Given the description of an element on the screen output the (x, y) to click on. 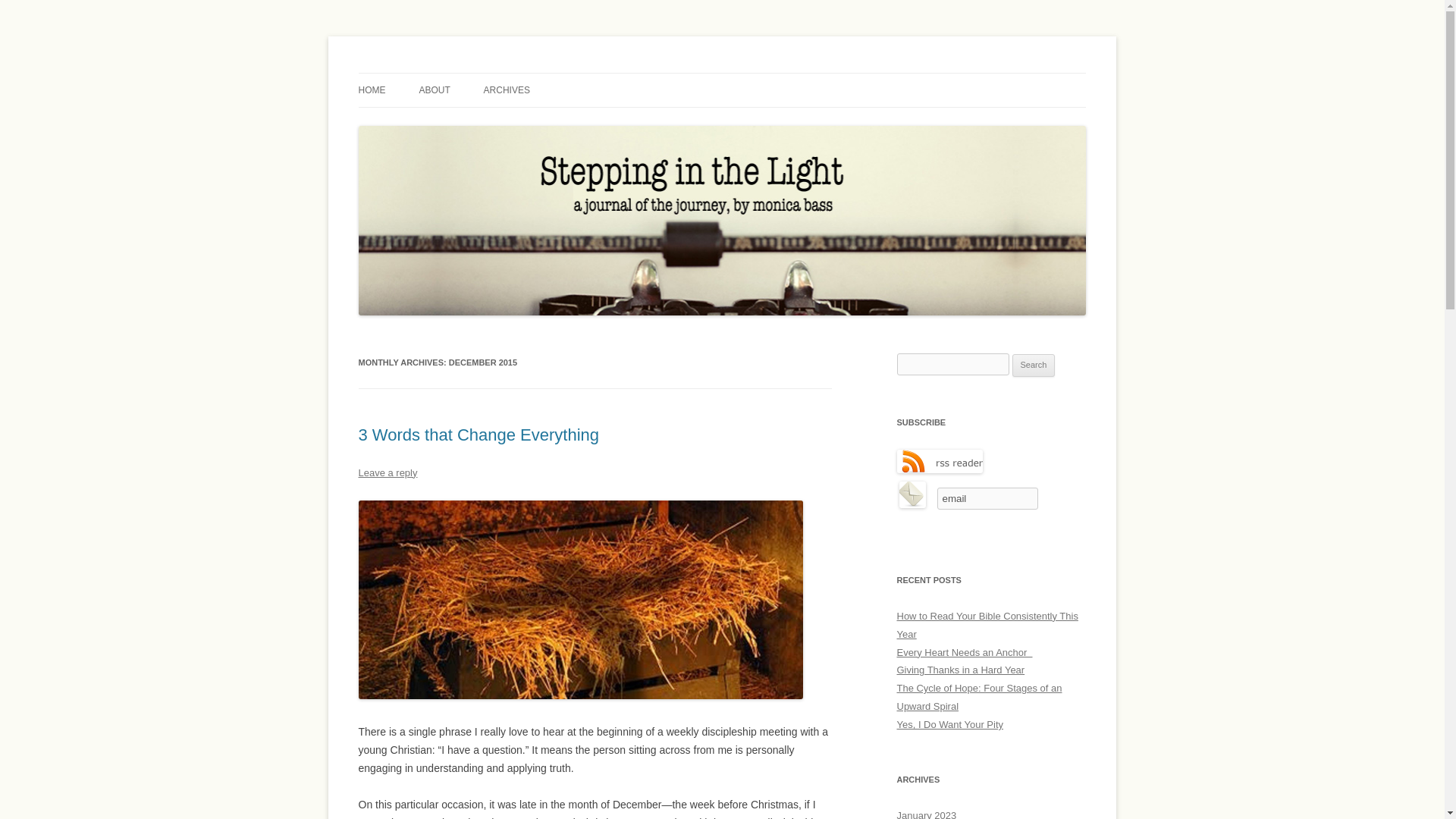
Leave a reply (387, 472)
How to Read Your Bible Consistently This Year (986, 624)
ARCHIVES (506, 90)
Stepping in the Light (455, 72)
Yes, I Do Want Your Pity (949, 724)
Search (1033, 364)
Search (1033, 364)
email (988, 498)
January 2023 (926, 814)
3 Words that Change Everything (478, 434)
Every Heart Needs an Anchor   (964, 651)
ABOUT (434, 90)
Subscribe (990, 520)
The Cycle of Hope: Four Stages of an Upward Spiral (978, 696)
